Given the description of an element on the screen output the (x, y) to click on. 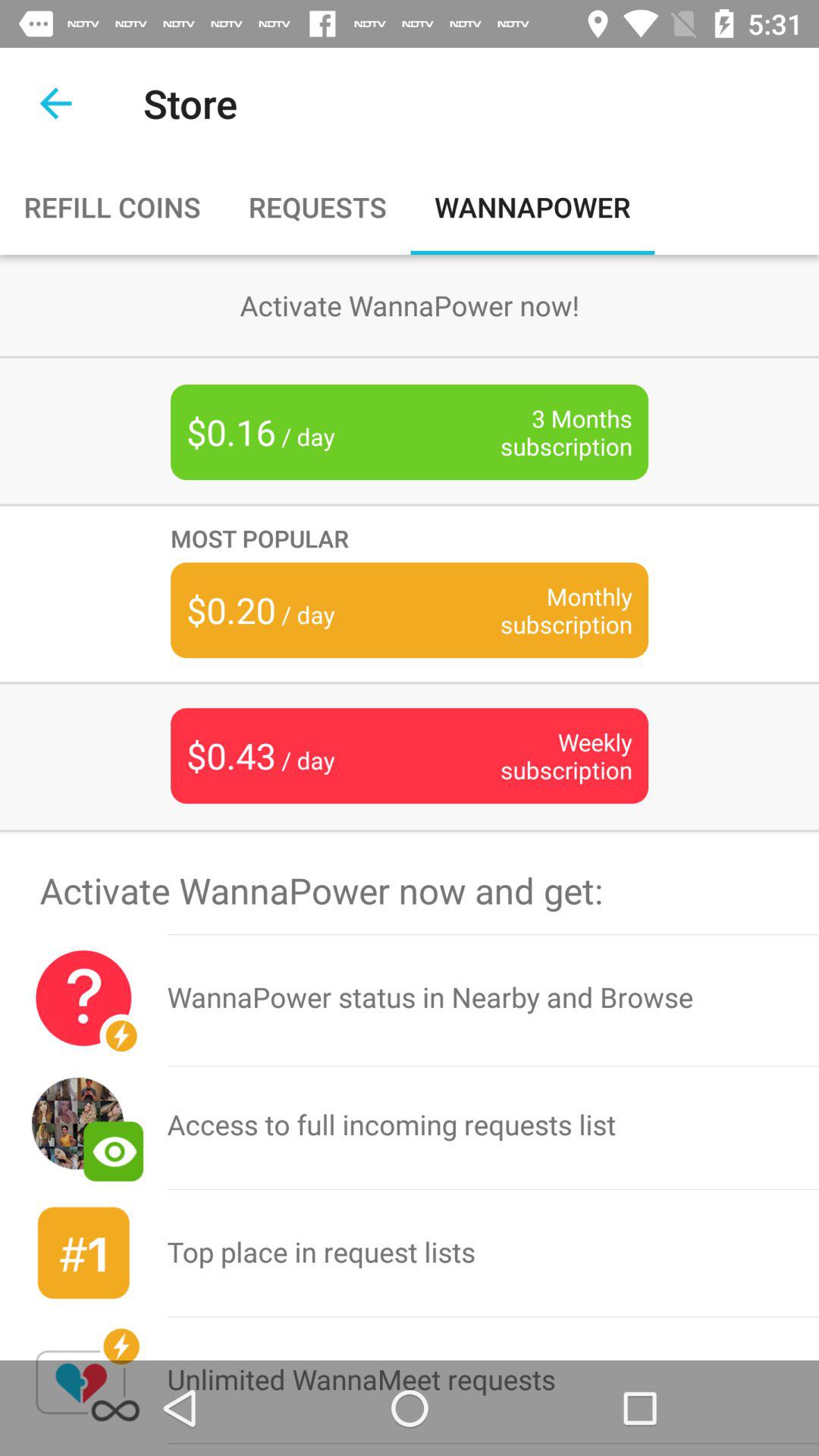
turn off icon below the activate wannapower now item (83, 997)
